Given the description of an element on the screen output the (x, y) to click on. 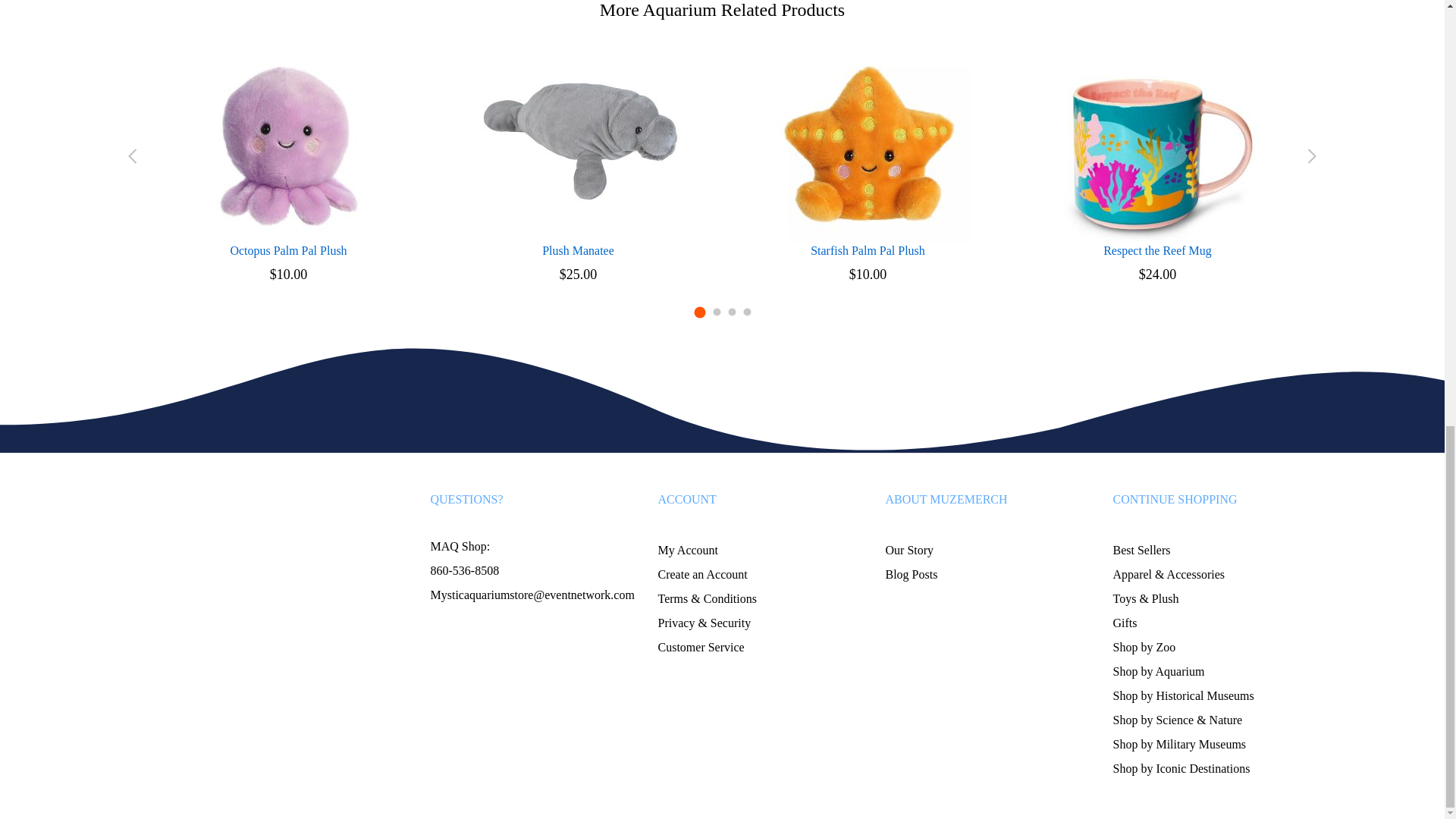
Octopus Palm Pal Plush (288, 250)
Starfish Palm Pal Plush (868, 250)
Plush Manatee (578, 250)
Respect the Reef Mug (1157, 250)
